Given the description of an element on the screen output the (x, y) to click on. 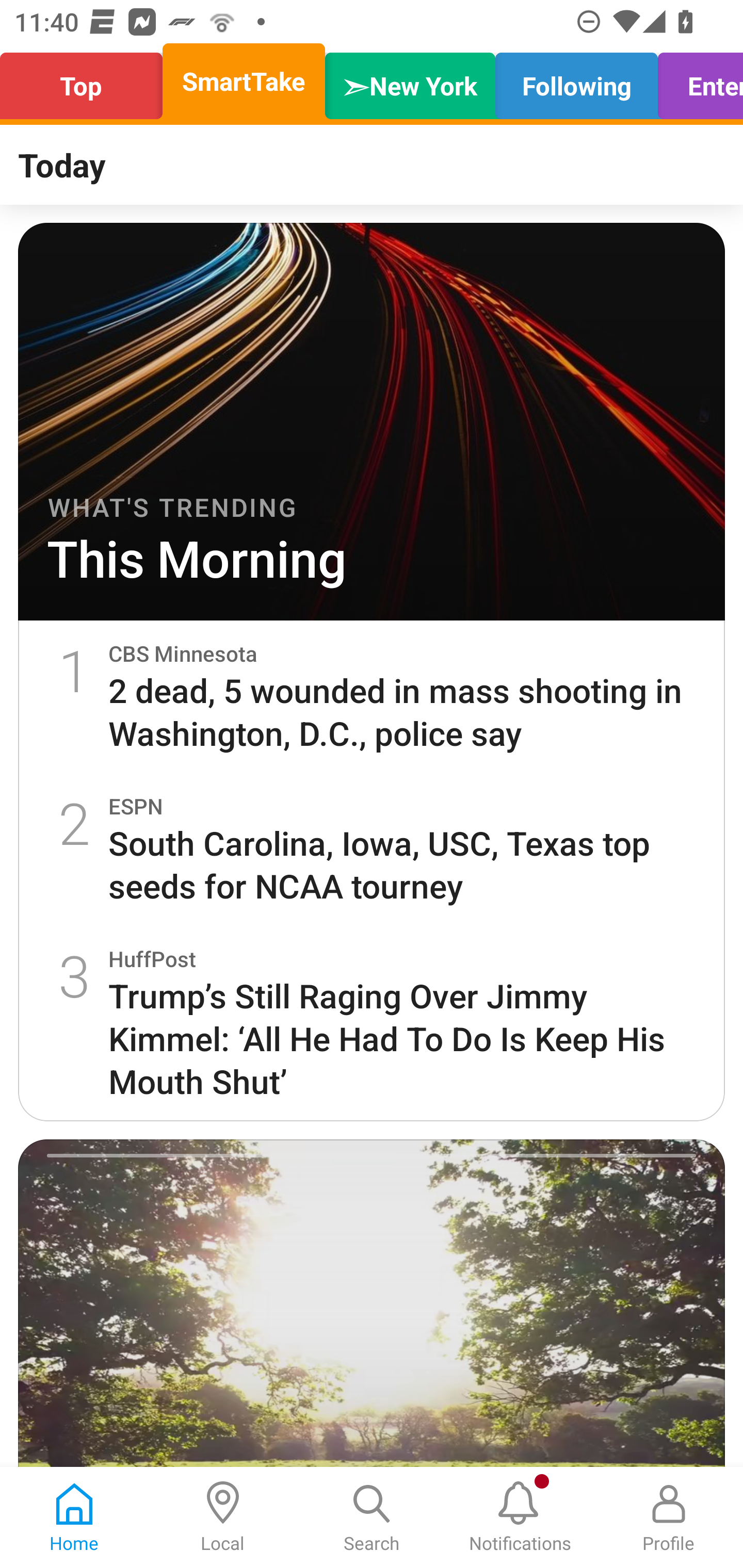
Top (86, 81)
SmartTake (243, 81)
➣New York (409, 81)
Following (576, 81)
Local (222, 1517)
Search (371, 1517)
Notifications, New notification Notifications (519, 1517)
Profile (668, 1517)
